Given the description of an element on the screen output the (x, y) to click on. 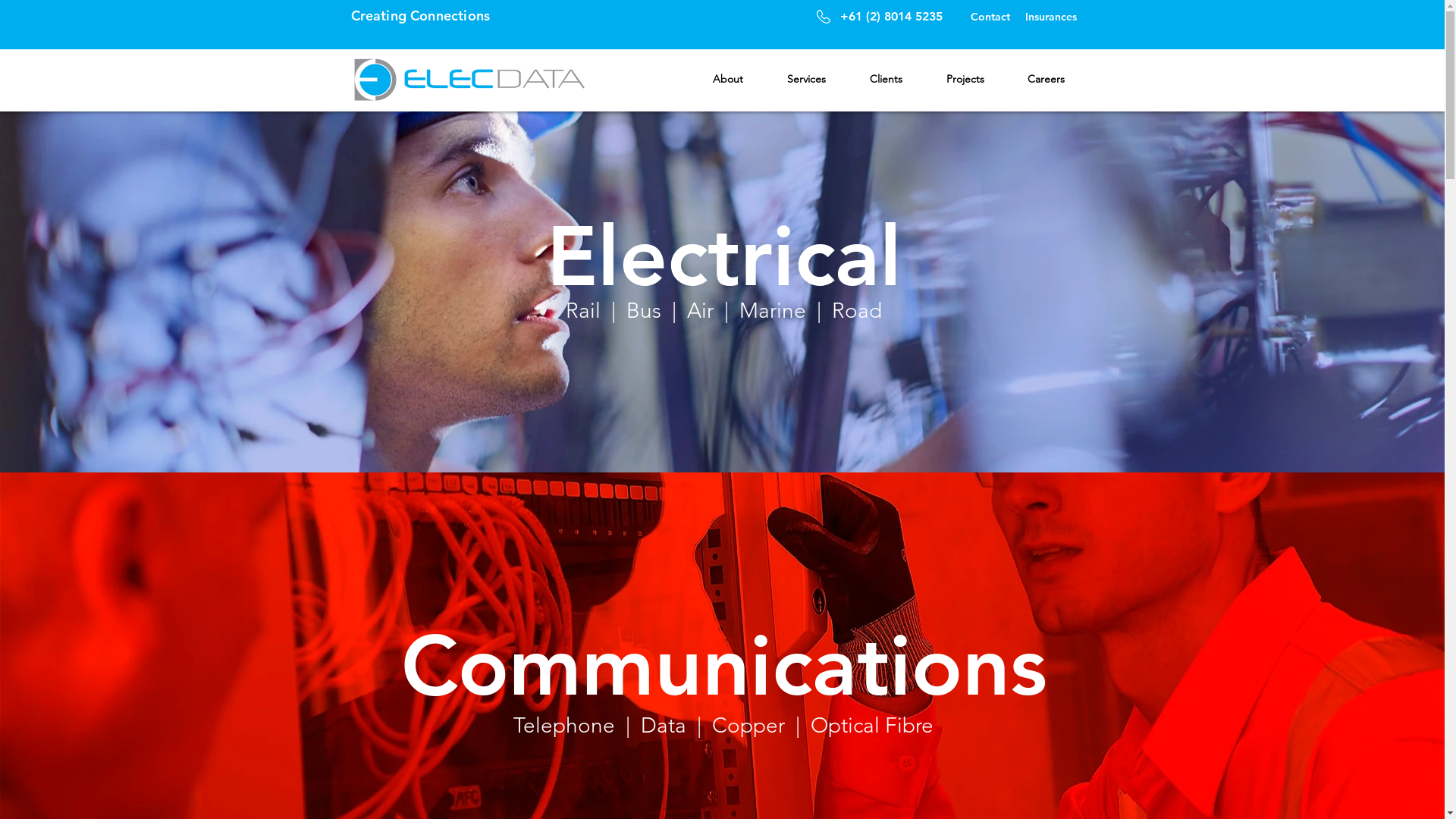
Careers Element type: text (1045, 79)
+61 (2) 8014 5235 Element type: text (891, 16)
Clients Element type: text (885, 79)
Contact Element type: text (989, 17)
Insurances Element type: text (1049, 17)
Projects Element type: text (964, 79)
